Given the description of an element on the screen output the (x, y) to click on. 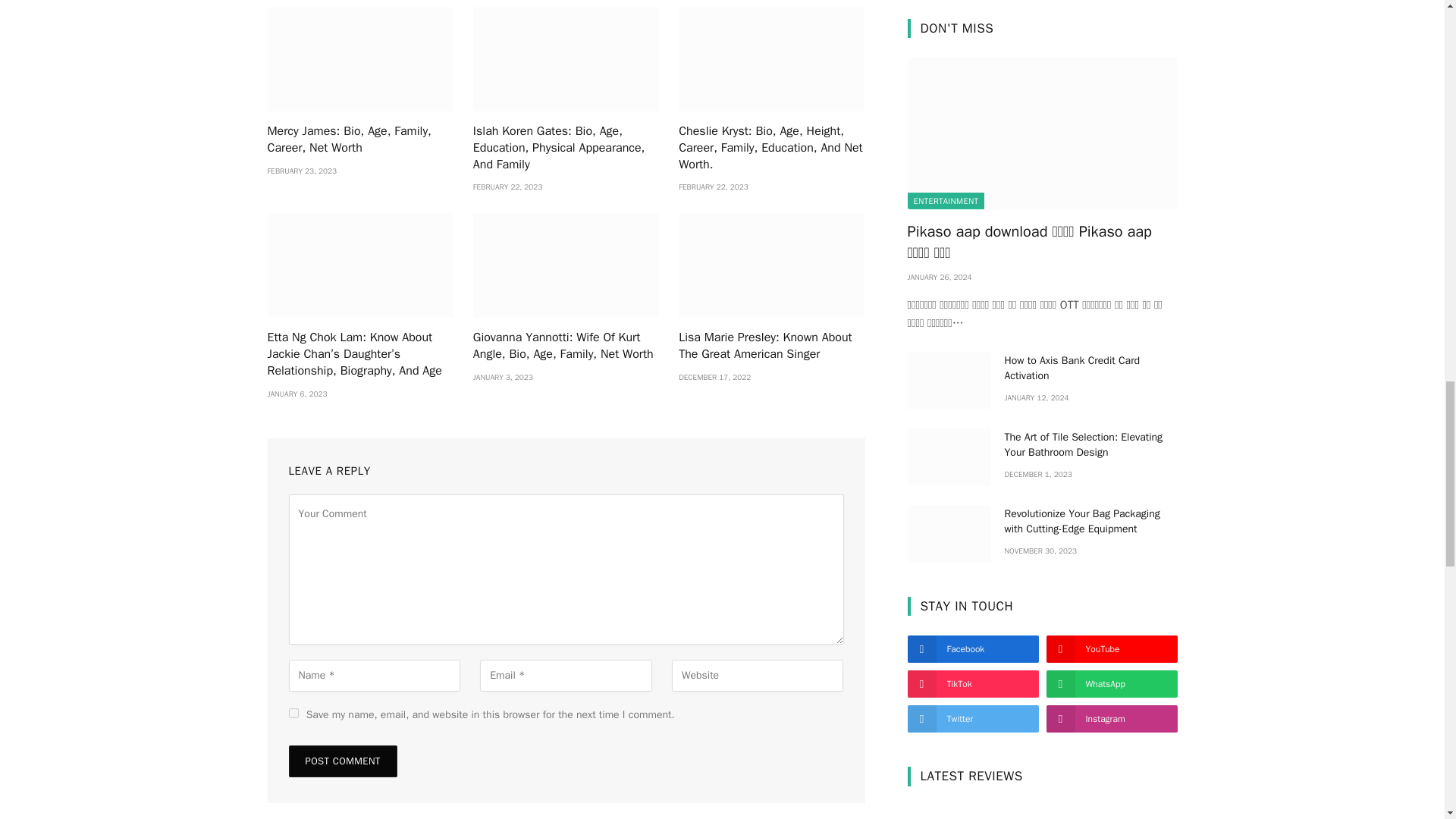
Post Comment (342, 761)
yes (293, 713)
